Given the description of an element on the screen output the (x, y) to click on. 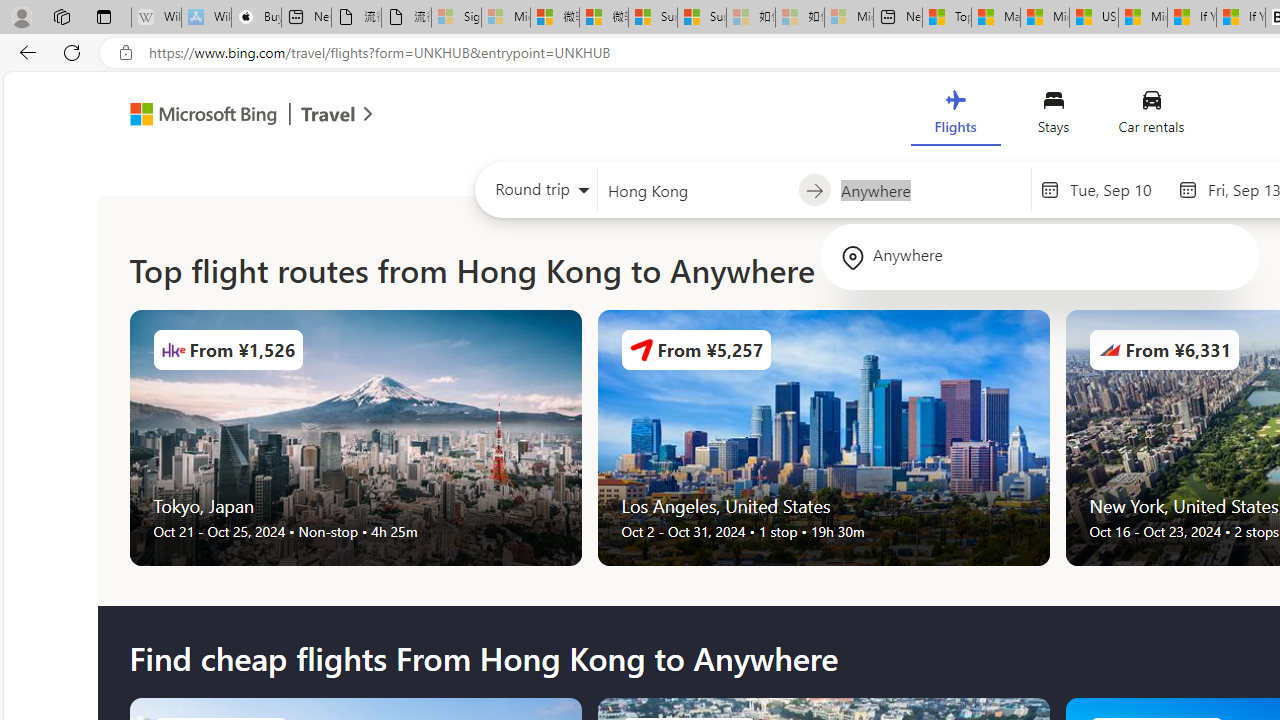
Select trip type (535, 193)
Class: msft-travel-logo (328, 114)
Flights (955, 116)
Microsoft Bing (194, 116)
Class: autosuggest-container full-height no-y-padding (930, 190)
to (814, 191)
Start Date (1118, 189)
